Given the description of an element on the screen output the (x, y) to click on. 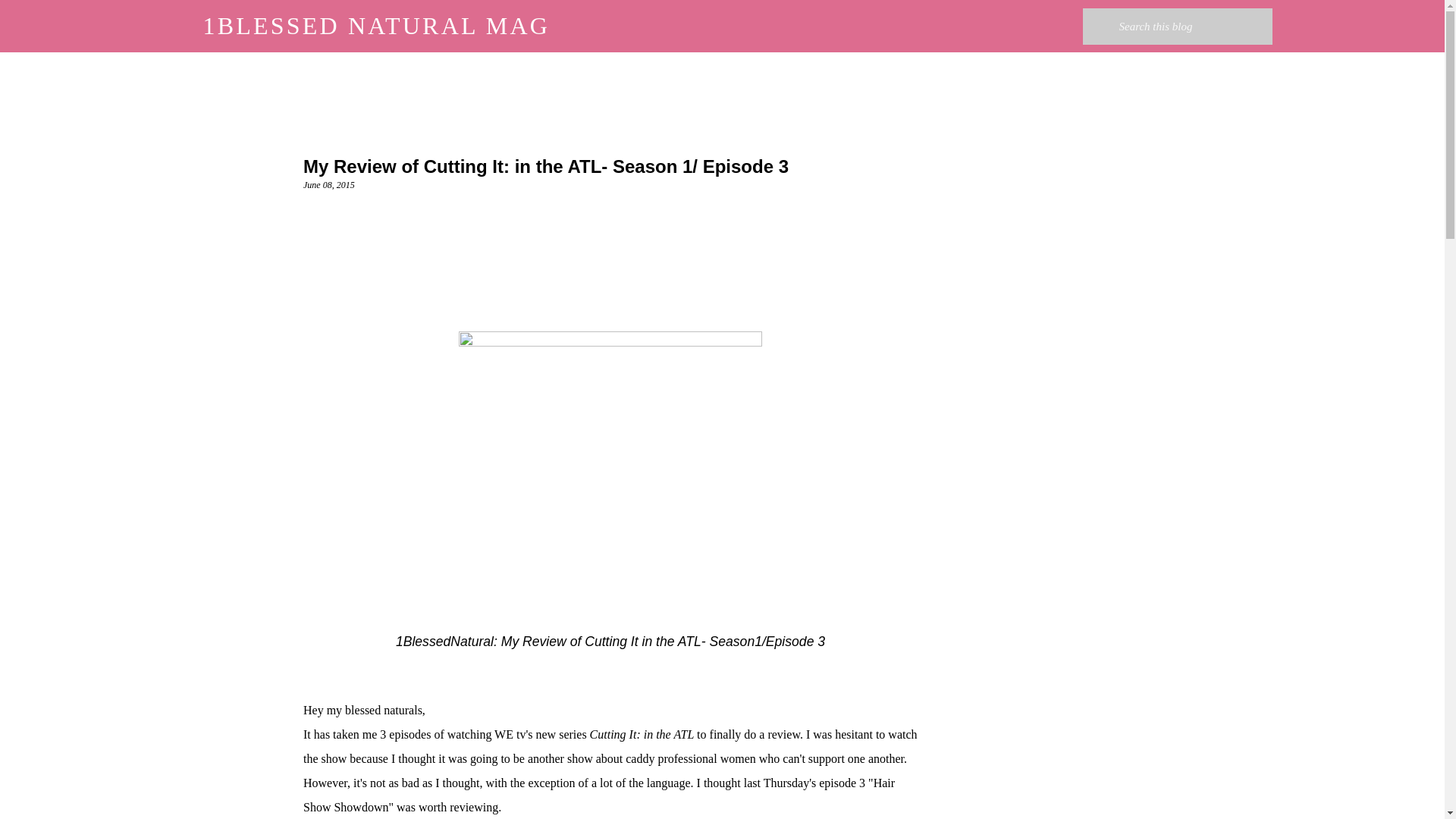
permanent link (328, 184)
1BLESSED NATURAL MAG (376, 25)
June 08, 2015 (328, 184)
